Given the description of an element on the screen output the (x, y) to click on. 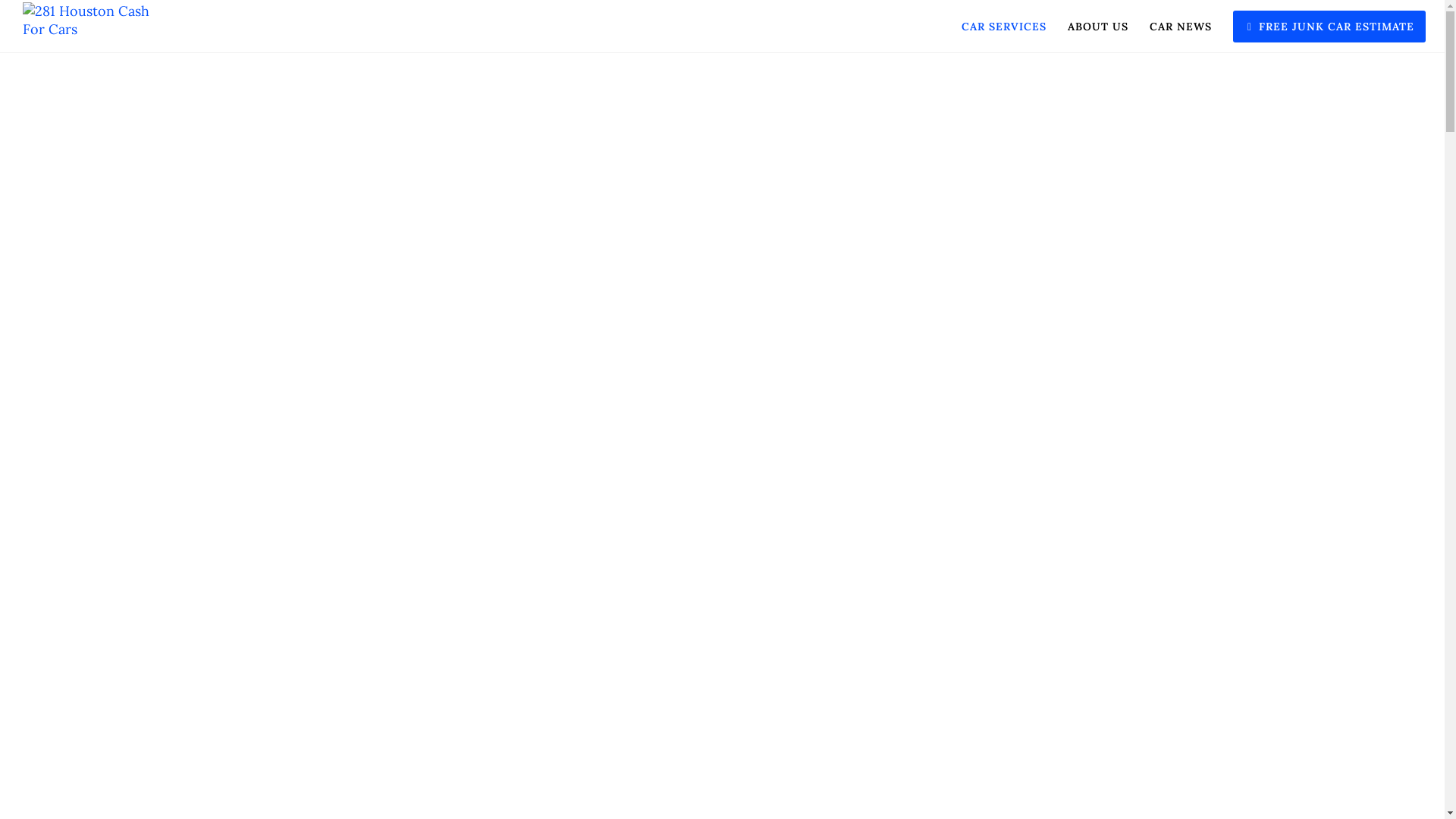
CAR SERVICES Element type: text (993, 26)
CAR NEWS Element type: text (1169, 26)
FREE JUNK CAR ESTIMATE Element type: text (1318, 26)
ABOUT US Element type: text (1087, 26)
